Given the description of an element on the screen output the (x, y) to click on. 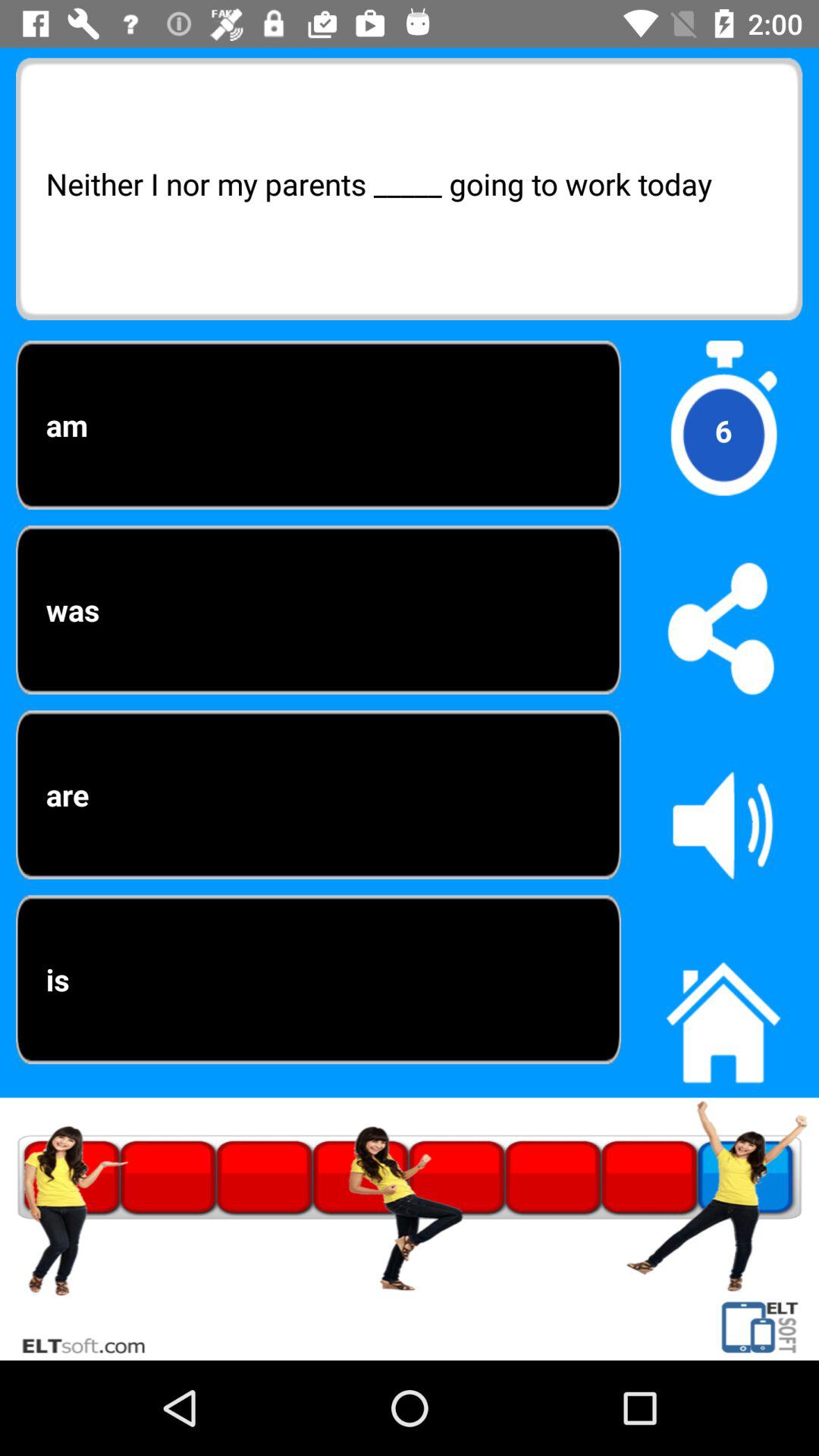
turn on button at the bottom right corner (723, 1013)
